Given the description of an element on the screen output the (x, y) to click on. 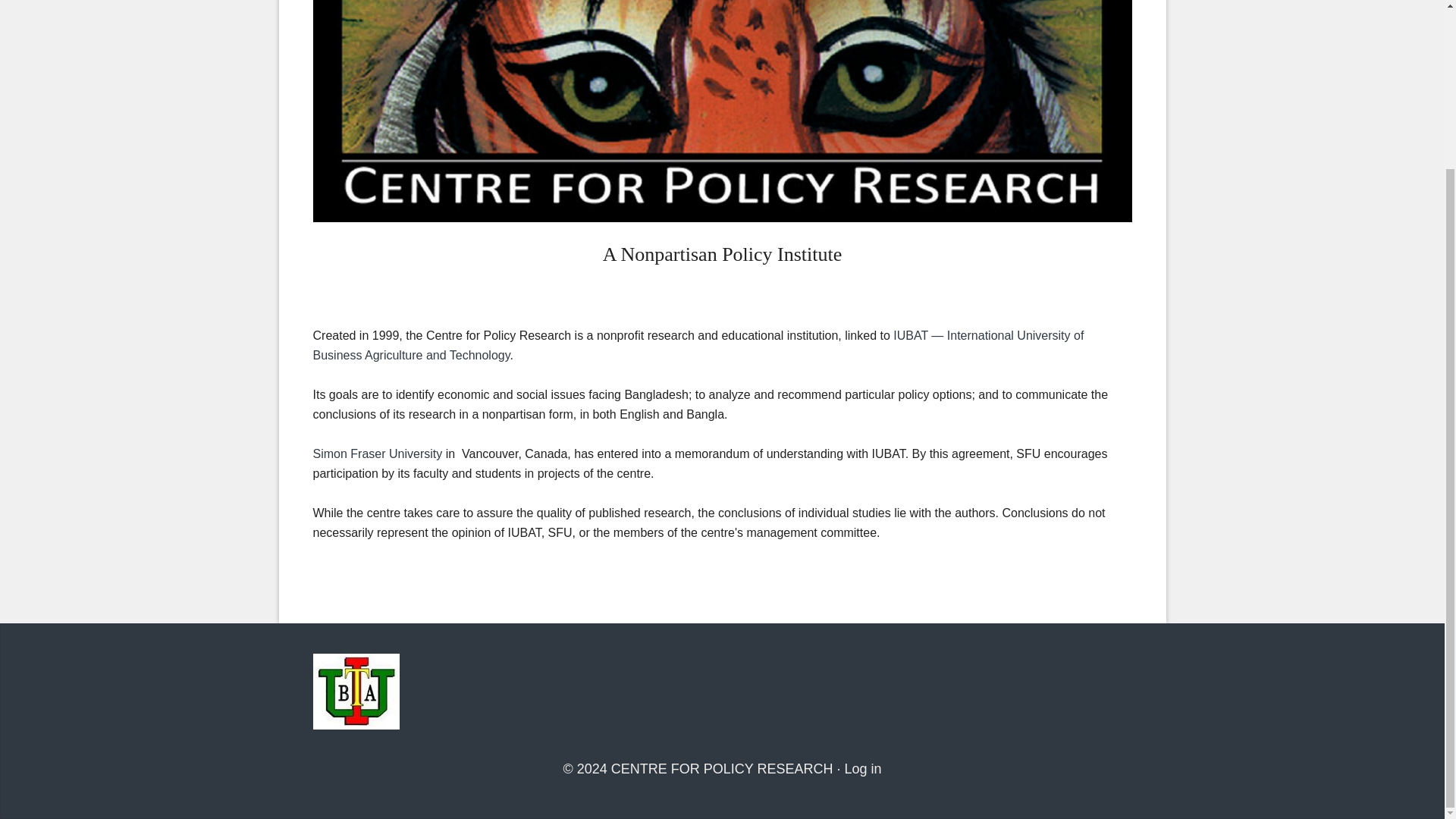
Log in (863, 768)
Simon Fraser University (377, 453)
